Given the description of an element on the screen output the (x, y) to click on. 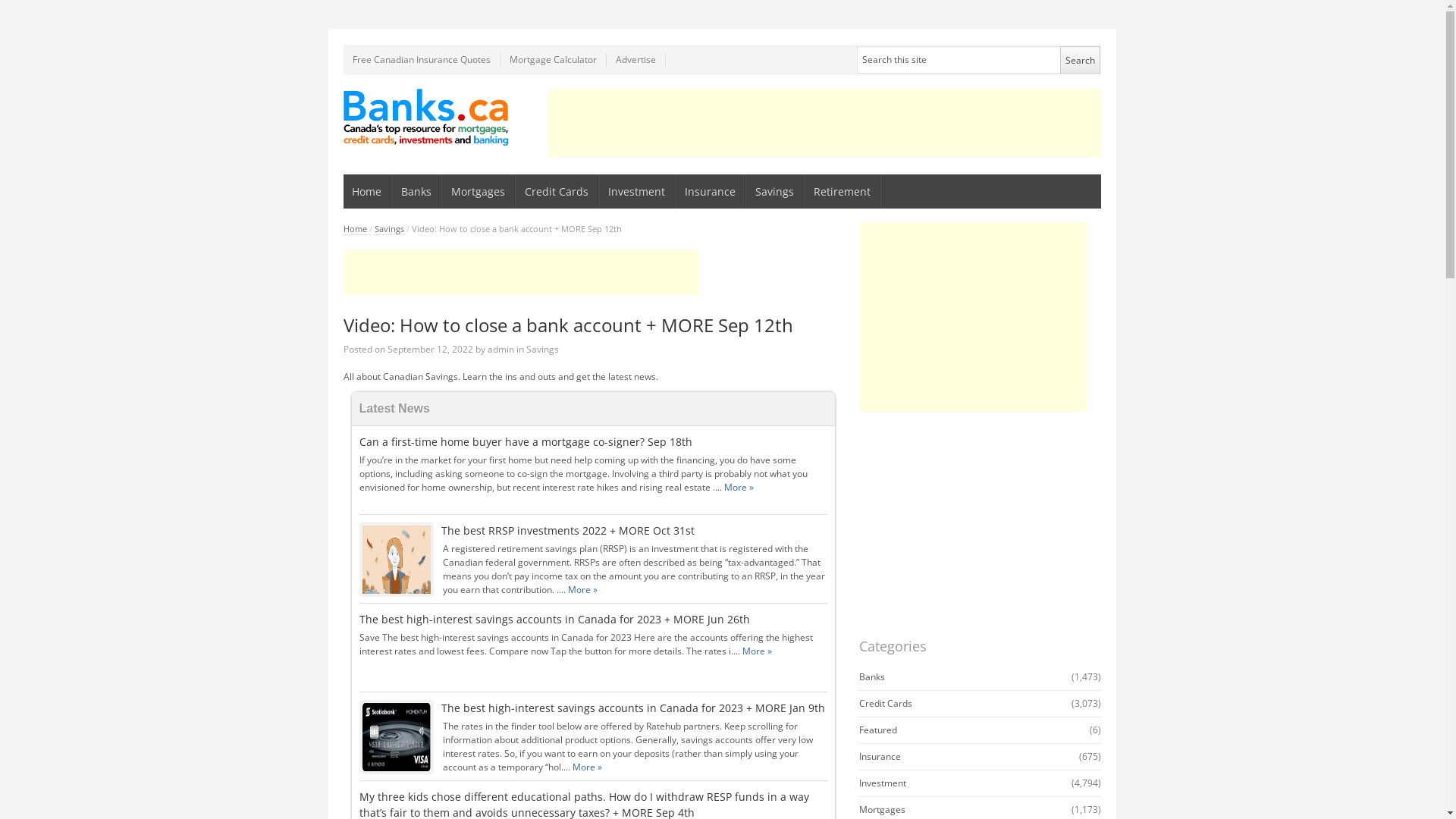
Mortgages Element type: text (881, 809)
Investment Element type: text (636, 191)
Savings Element type: text (389, 228)
Advertise Element type: text (635, 59)
Featured Element type: text (877, 729)
Free Canadian Insurance Quotes Element type: text (420, 59)
Advertisement Element type: hover (519, 271)
Advertisement Element type: hover (971, 316)
Banks Element type: text (416, 191)
Savings Element type: text (542, 348)
Savings Element type: text (774, 191)
The best RRSP investments 2022 + MORE Oct 31st Element type: text (567, 530)
Banks in Canada Element type: hover (425, 116)
Investment Element type: text (881, 782)
Home Element type: text (354, 228)
Insurance Element type: text (879, 755)
September 12, 2022 Element type: text (429, 348)
Home Element type: text (366, 191)
admin Element type: text (499, 348)
Search Element type: text (1080, 59)
Advertisement Element type: hover (825, 122)
Mortgages Element type: text (478, 191)
Retirement Element type: text (842, 191)
Credit Cards Element type: text (556, 191)
Mortgage Calculator Element type: text (553, 59)
Insurance Element type: text (710, 191)
Banks Element type: text (871, 676)
Credit Cards Element type: text (884, 702)
